Given the description of an element on the screen output the (x, y) to click on. 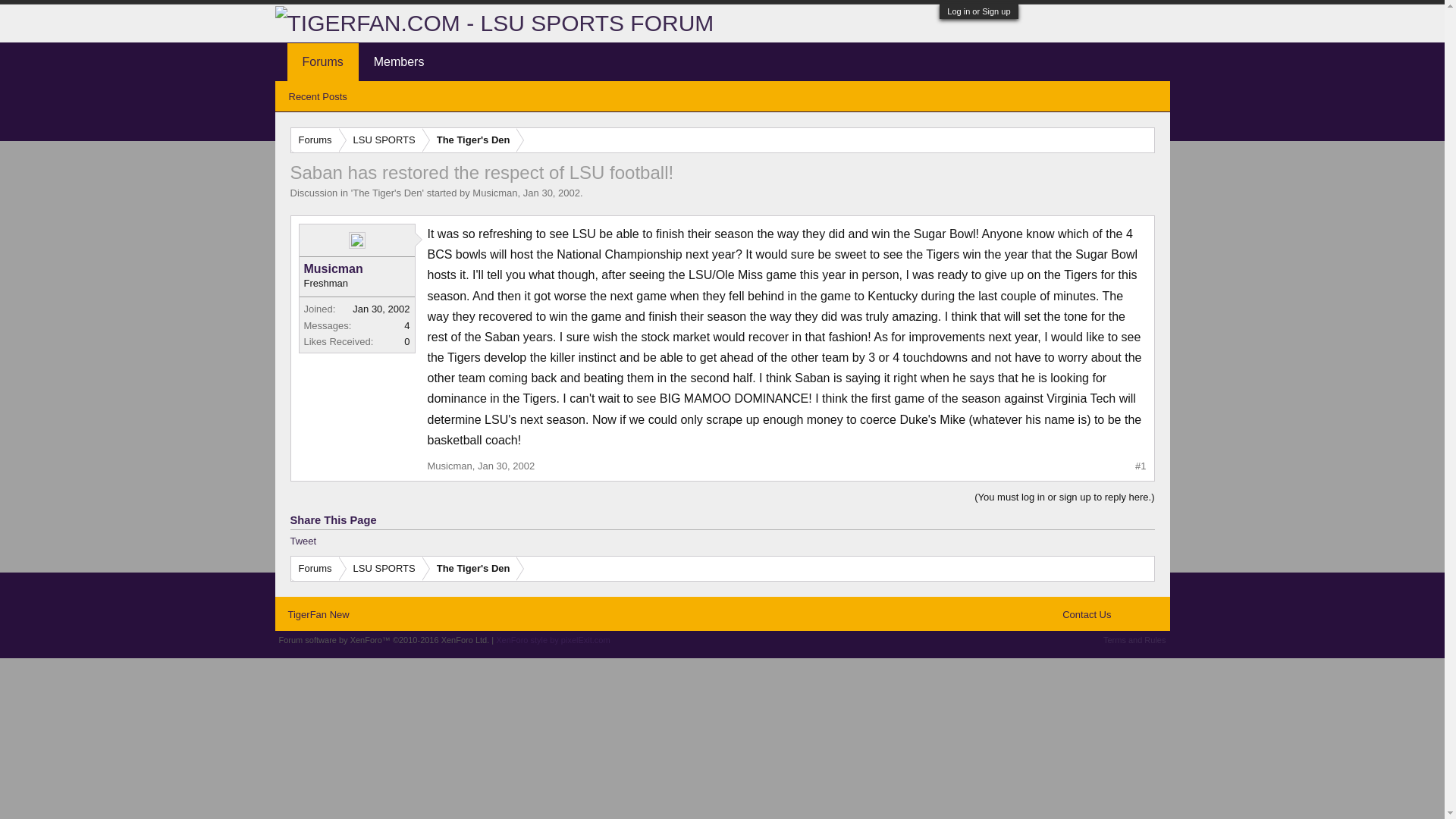
Jan 30, 2002 (550, 193)
Tweet (302, 541)
The Tiger's Den (470, 568)
Recent Posts (317, 96)
Permalink (505, 465)
TigerFan New (317, 613)
LSU SPORTS (381, 568)
Members (398, 62)
Forums (322, 62)
Jan 30, 2002 (505, 465)
